Given the description of an element on the screen output the (x, y) to click on. 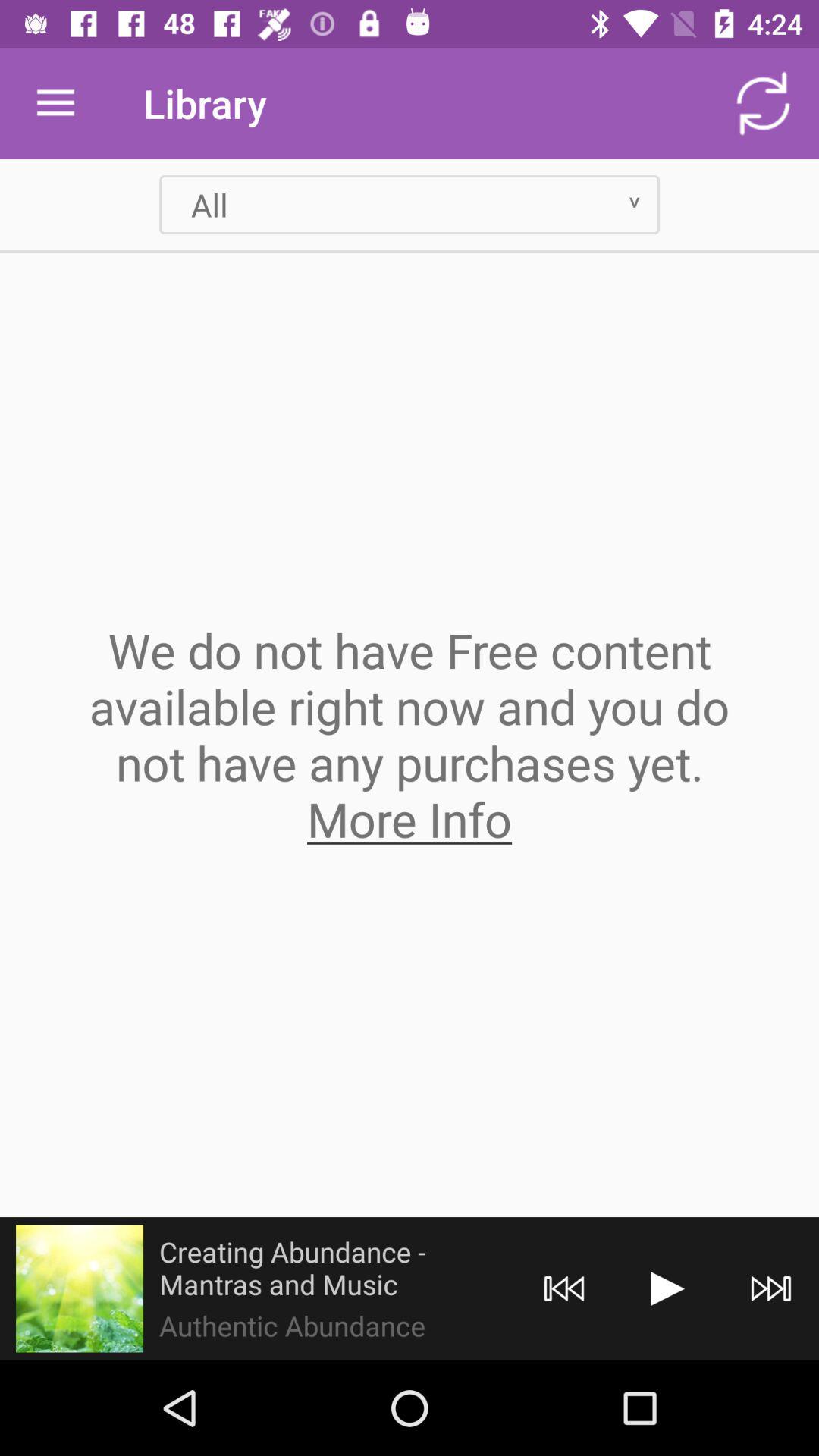
rewind audio (564, 1288)
